Given the description of an element on the screen output the (x, y) to click on. 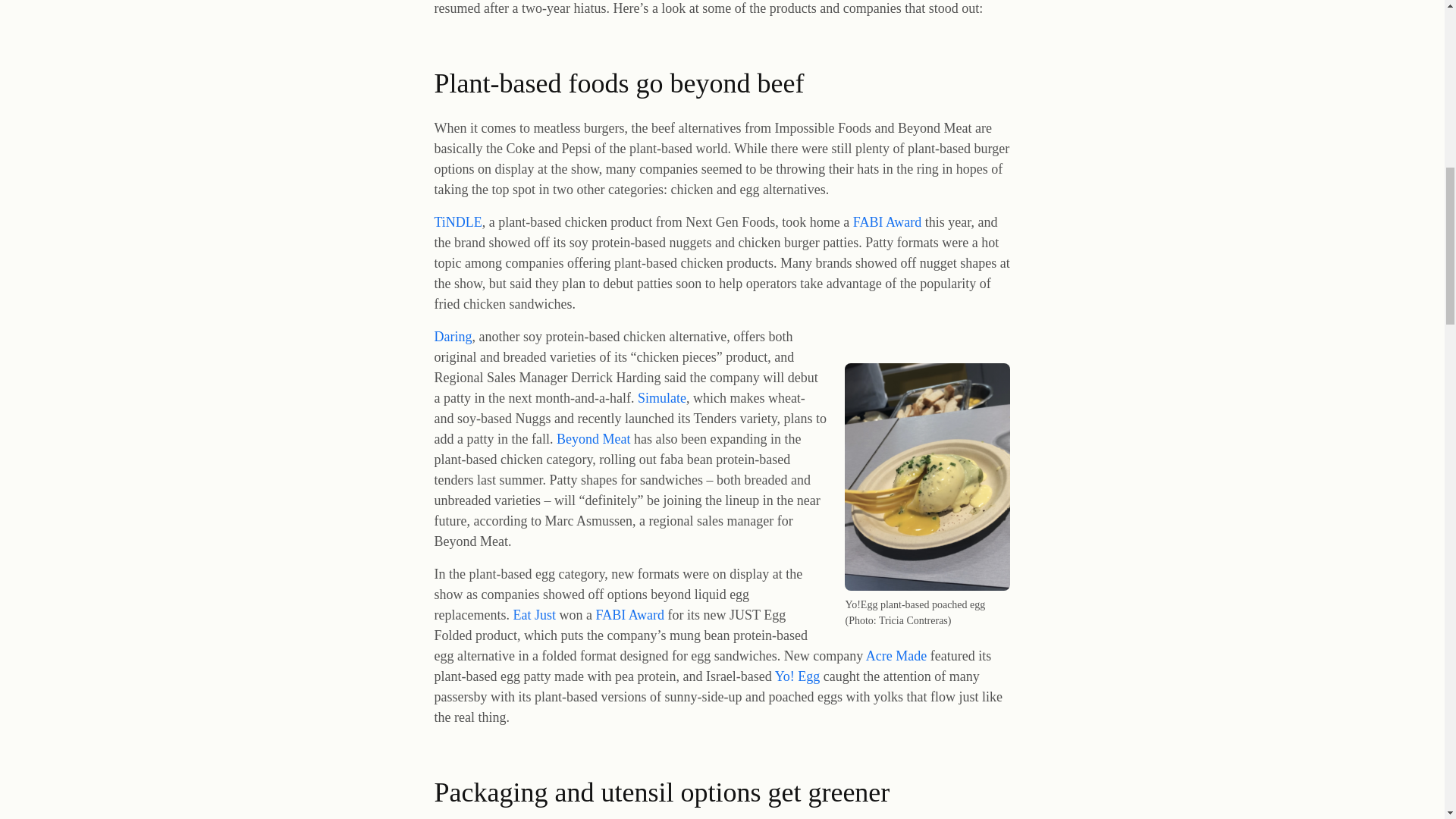
Acre Made (896, 655)
FABI Award (887, 222)
FABI Award (629, 614)
Yo! Egg (797, 676)
Daring (452, 336)
Eat Just (534, 614)
Simulate (661, 397)
Beyond Meat (593, 438)
TiNDLE (457, 222)
